Given the description of an element on the screen output the (x, y) to click on. 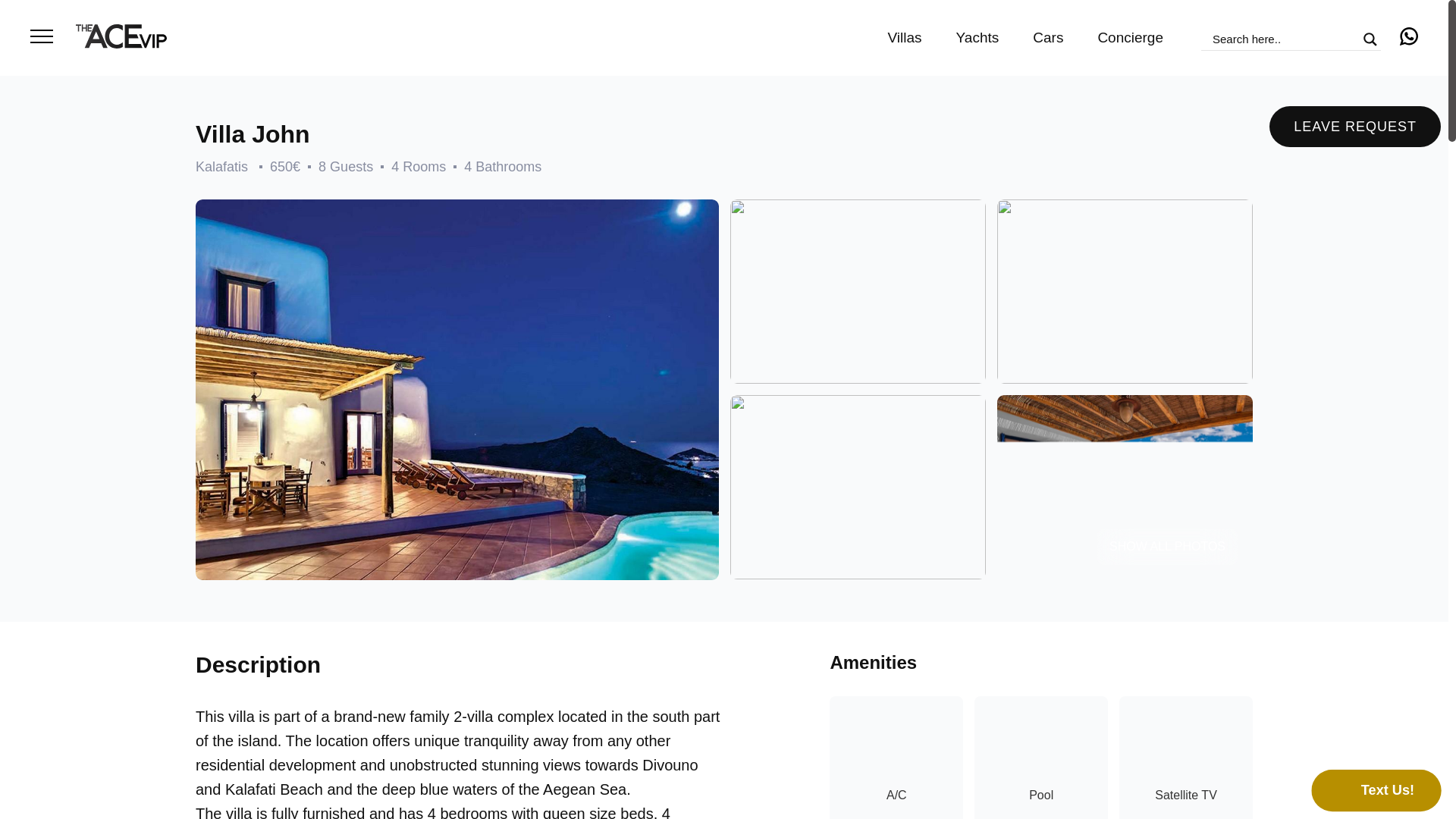
Yachts (977, 37)
Concierge (1130, 37)
LEAVE REQUEST (1355, 126)
Kalafatis (221, 166)
Villas (904, 37)
Cars (1047, 37)
